Given the description of an element on the screen output the (x, y) to click on. 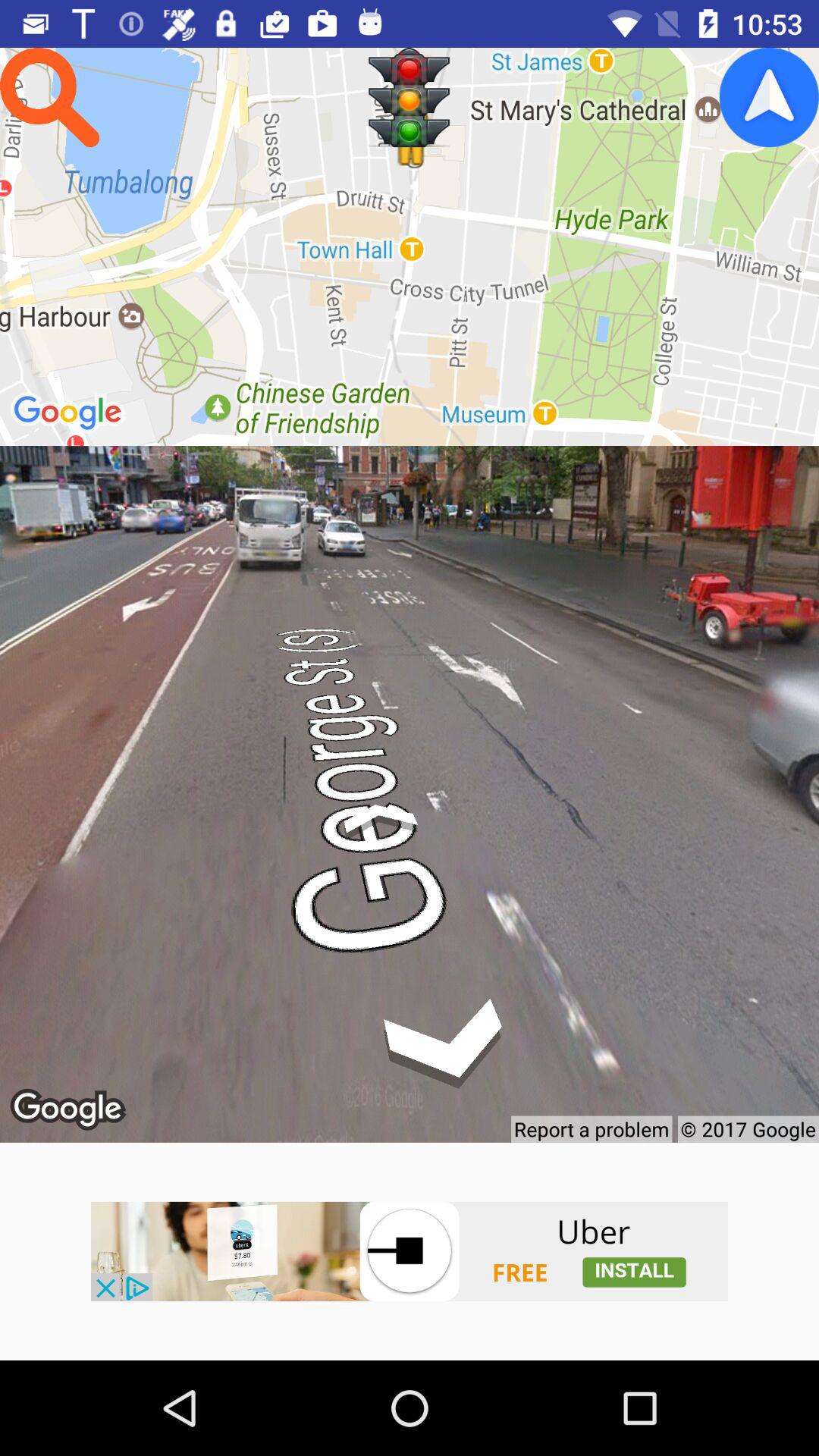
advertisement link (409, 1251)
